Given the description of an element on the screen output the (x, y) to click on. 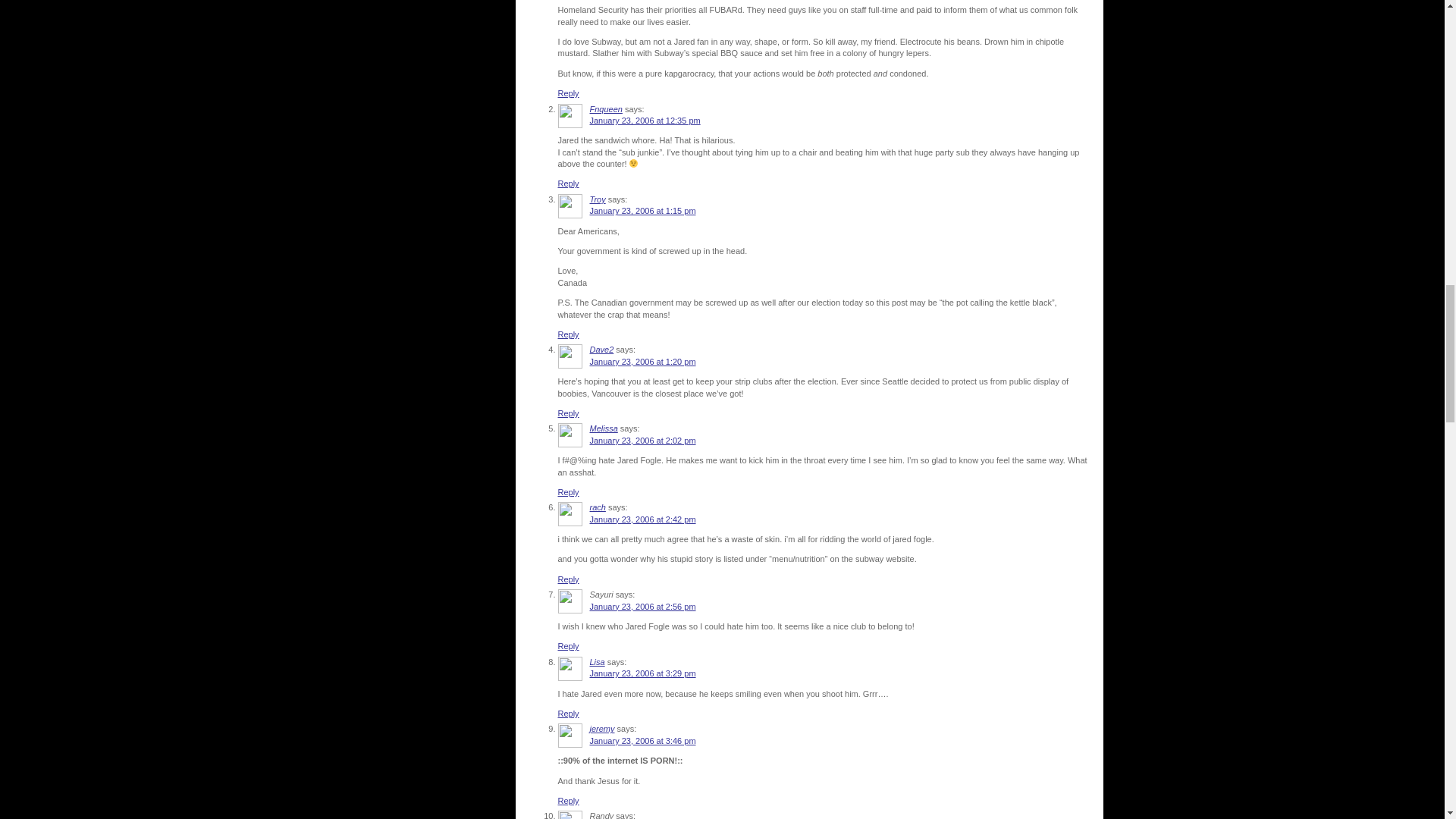
Fnqueen (606, 108)
January 23, 2006 at 3:29 pm (642, 673)
January 23, 2006 at 2:56 pm (642, 605)
Reply (568, 412)
Reply (568, 578)
Reply (568, 491)
Reply (568, 334)
Dave2 (601, 348)
January 23, 2006 at 2:02 pm (642, 440)
January 23, 2006 at 2:42 pm (642, 519)
Reply (568, 183)
January 23, 2006 at 1:20 pm (642, 361)
January 23, 2006 at 12:35 pm (644, 120)
Lisa (597, 661)
Troy (597, 198)
